Given the description of an element on the screen output the (x, y) to click on. 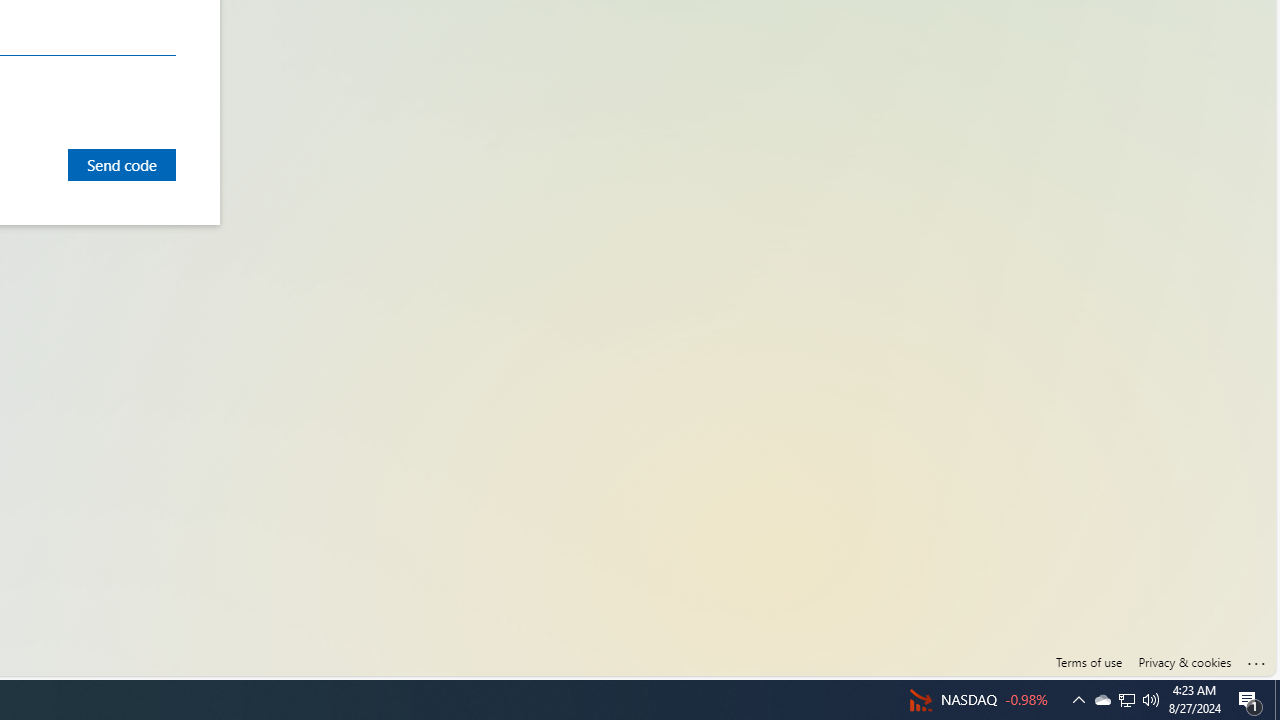
Send code (121, 164)
Click here for troubleshooting information (1257, 659)
Privacy & cookies (1184, 662)
